Given the description of an element on the screen output the (x, y) to click on. 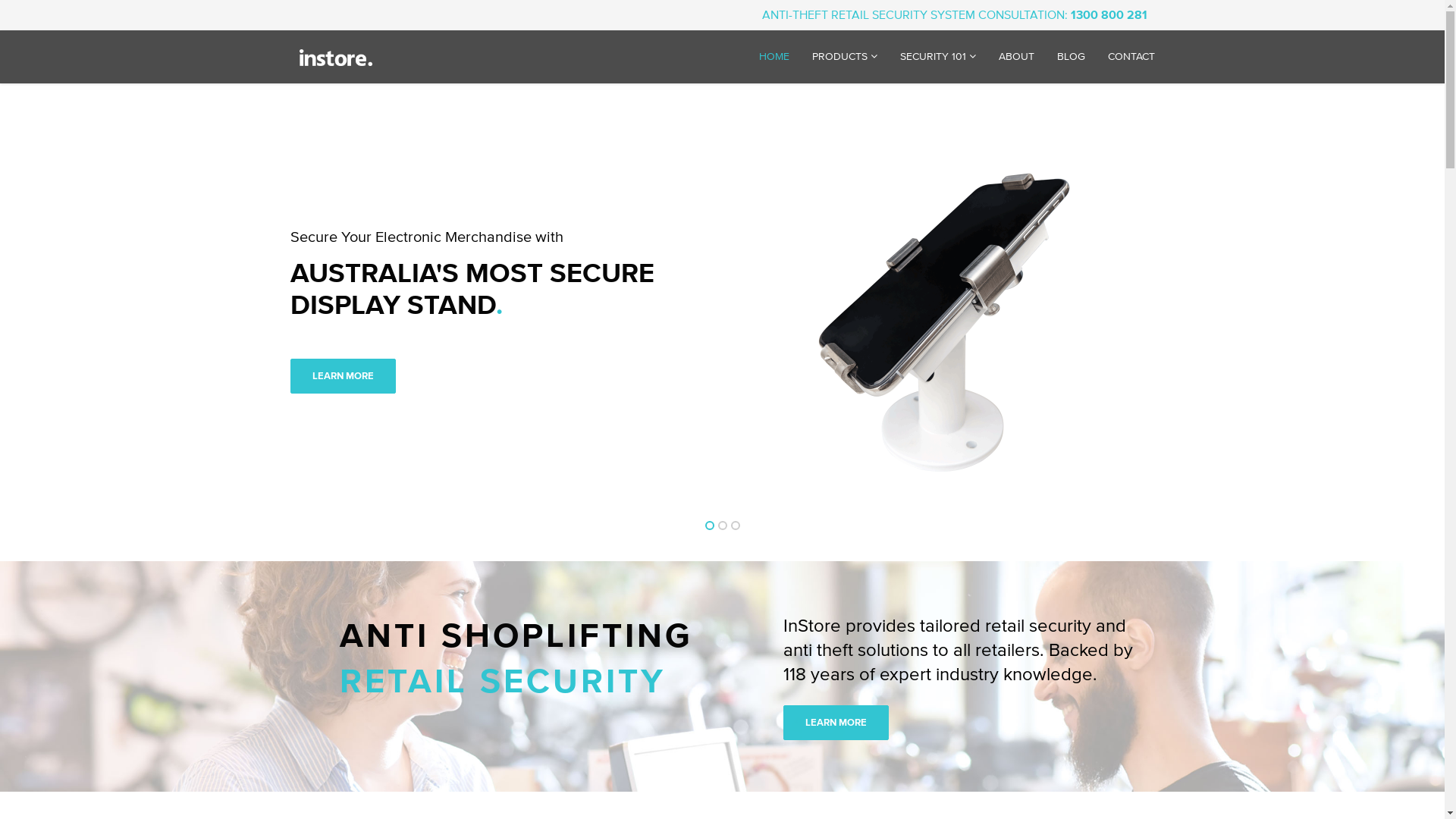
ABOUT Element type: text (1016, 56)
CONTACT Element type: text (1131, 56)
PRODUCTS Element type: text (844, 56)
SECURITY 101 Element type: text (937, 56)
BLOG Element type: text (1069, 56)
1300 800 281 Element type: text (1107, 15)
LEARN MORE Element type: text (872, 375)
HOME Element type: text (773, 56)
LEARN MORE Element type: text (835, 722)
